Given the description of an element on the screen output the (x, y) to click on. 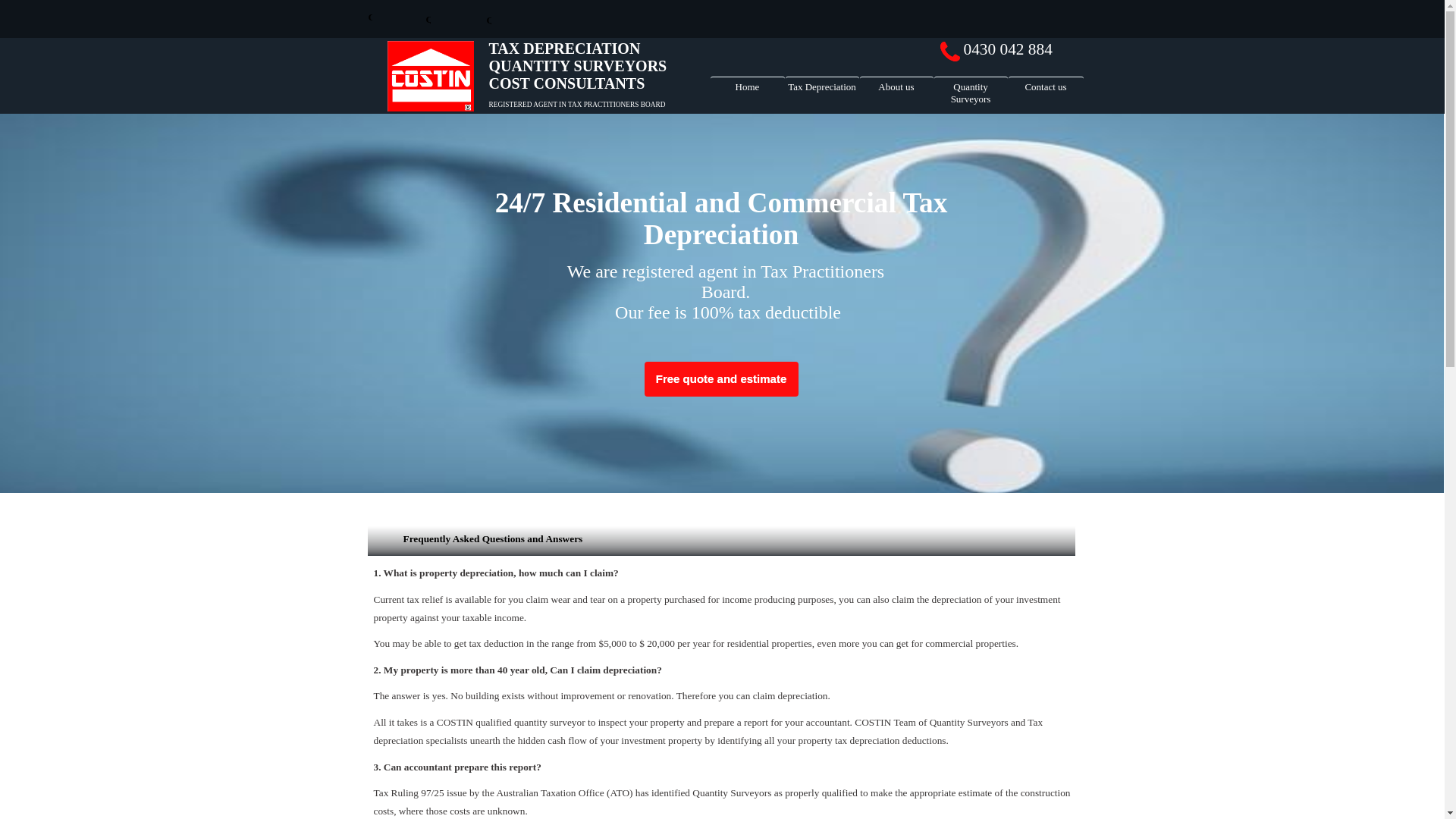
About us Element type: text (896, 91)
Home Element type: text (746, 91)
Tax Depreciation Element type: text (822, 91)
Quantity Surveyors Element type: text (970, 91)
Contact us Element type: text (1045, 91)
Free quote and estimate Element type: text (721, 378)
